Given the description of an element on the screen output the (x, y) to click on. 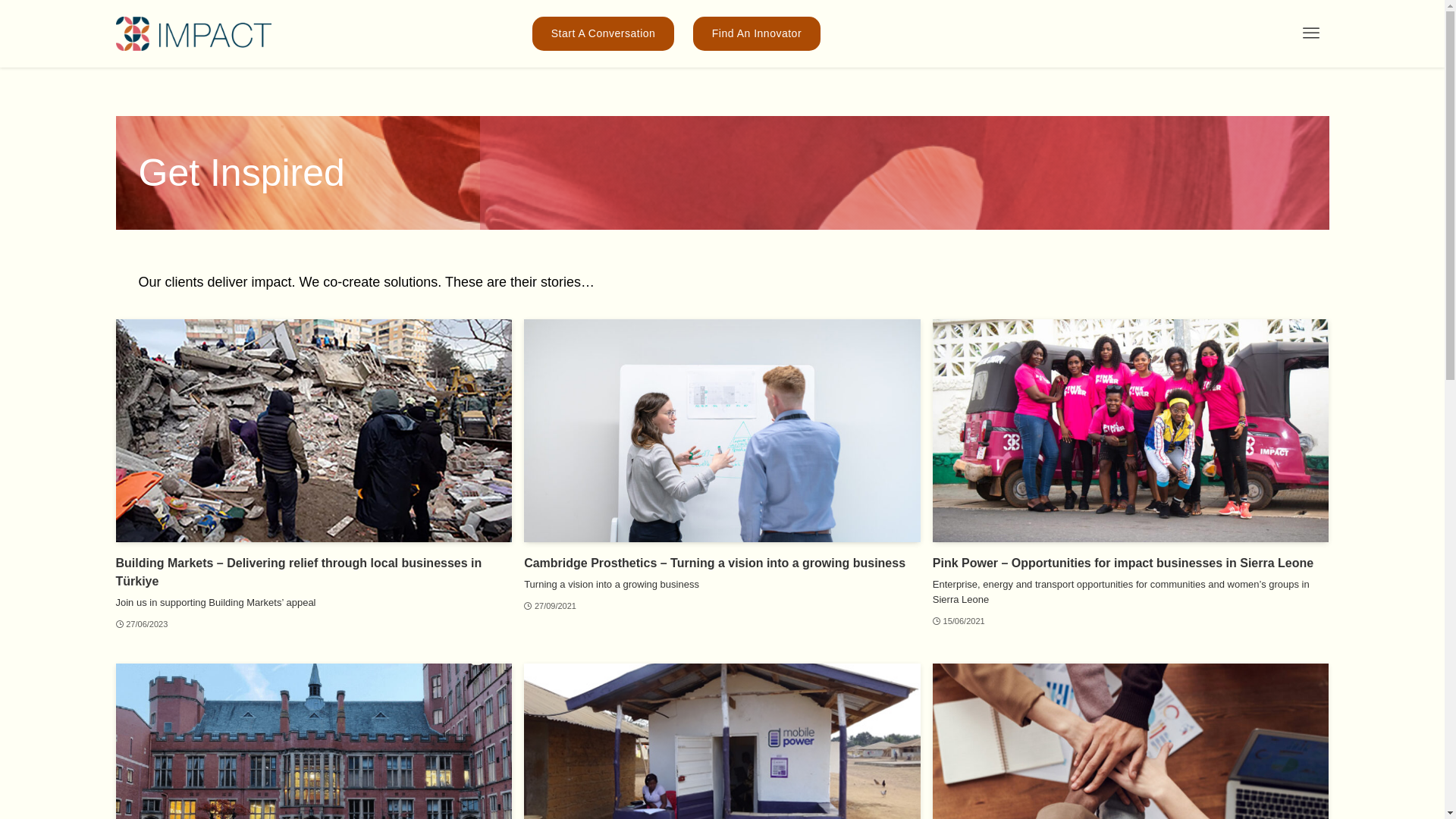
Find An Innovator Element type: text (756, 33)
Start A Conversation Element type: text (603, 33)
search Element type: text (921, 421)
3B IMPACT Element type: hover (192, 33)
